Given the description of an element on the screen output the (x, y) to click on. 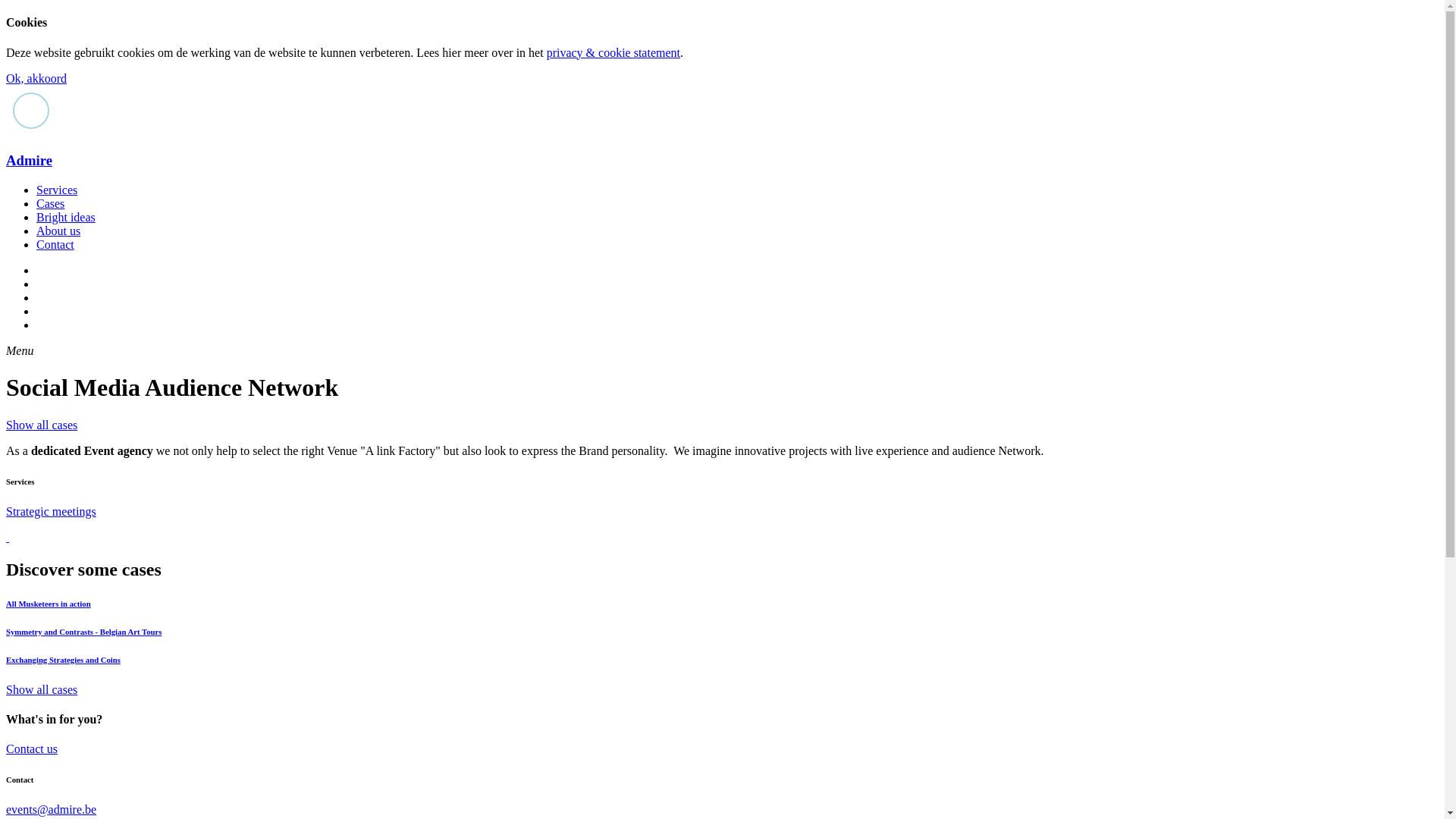
Ok, akkoord Element type: text (36, 78)
Show all cases Element type: text (41, 424)
Cases Element type: text (50, 203)
privacy & cookie statement Element type: text (613, 52)
Contact us Element type: text (31, 748)
Bright ideas Element type: text (65, 216)
events@admire.be Element type: text (51, 809)
Admire Element type: text (722, 160)
Exchanging Strategies and Coins Element type: text (722, 659)
Symmetry and Contrasts - Belgian Art Tours Element type: text (722, 631)
Contact Element type: text (55, 244)
Strategic meetings Element type: text (51, 511)
About us Element type: text (58, 230)
Services Element type: text (56, 189)
All Musketeers in action Element type: text (722, 603)
Show all cases Element type: text (41, 689)
